Given the description of an element on the screen output the (x, y) to click on. 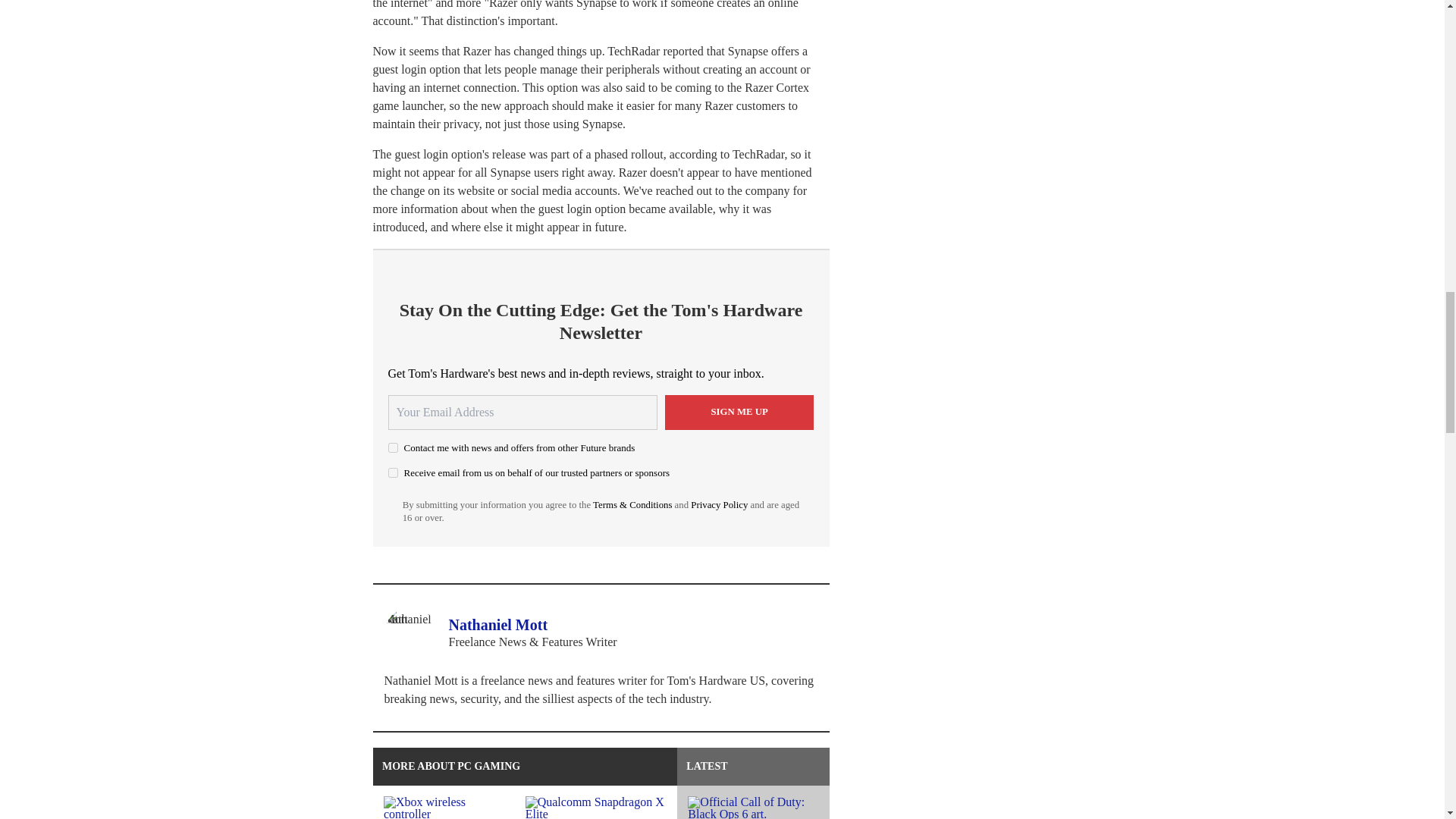
on (392, 472)
Sign me up (739, 411)
on (392, 447)
